Given the description of an element on the screen output the (x, y) to click on. 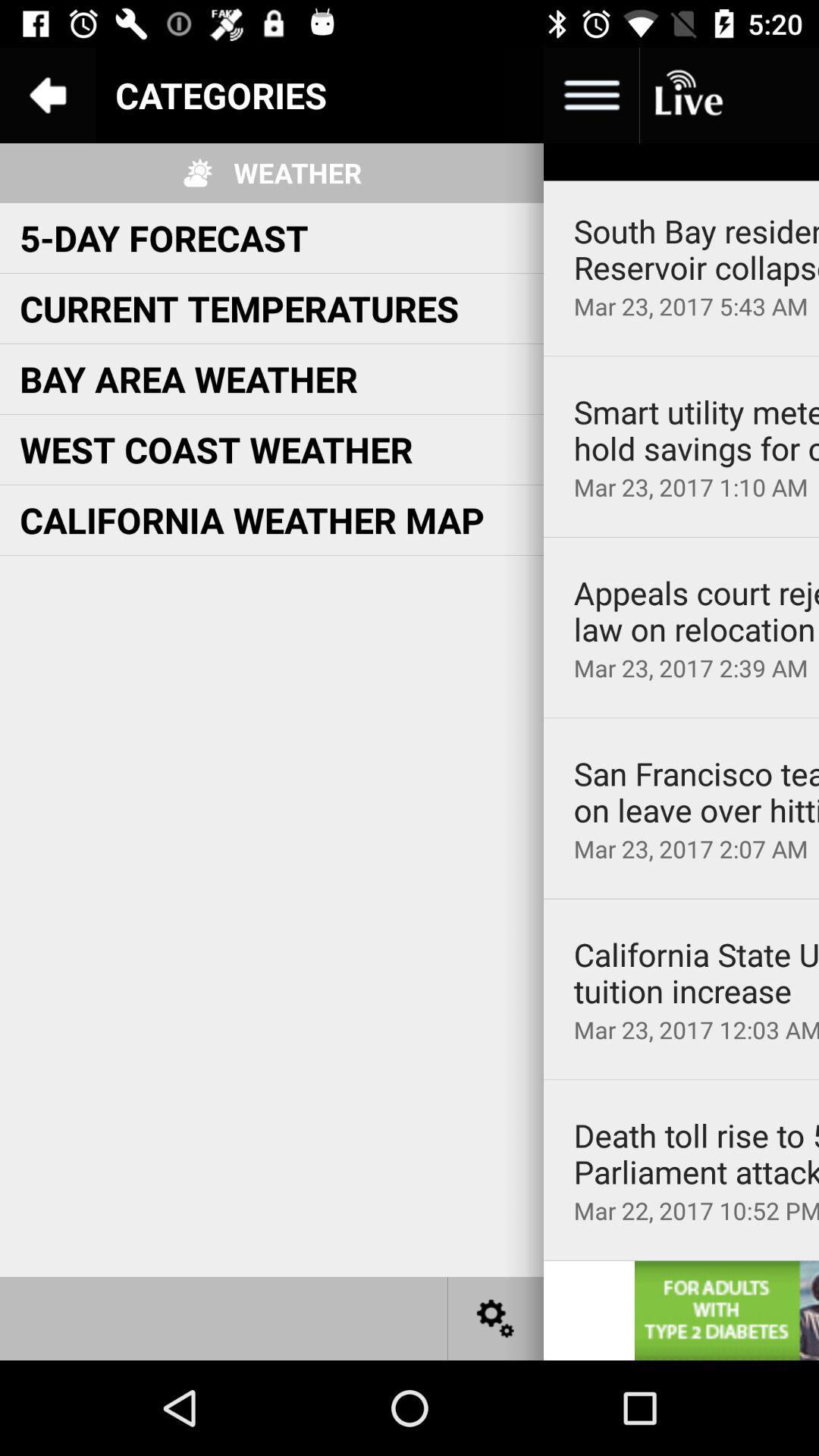
open more options (591, 95)
